Given the description of an element on the screen output the (x, y) to click on. 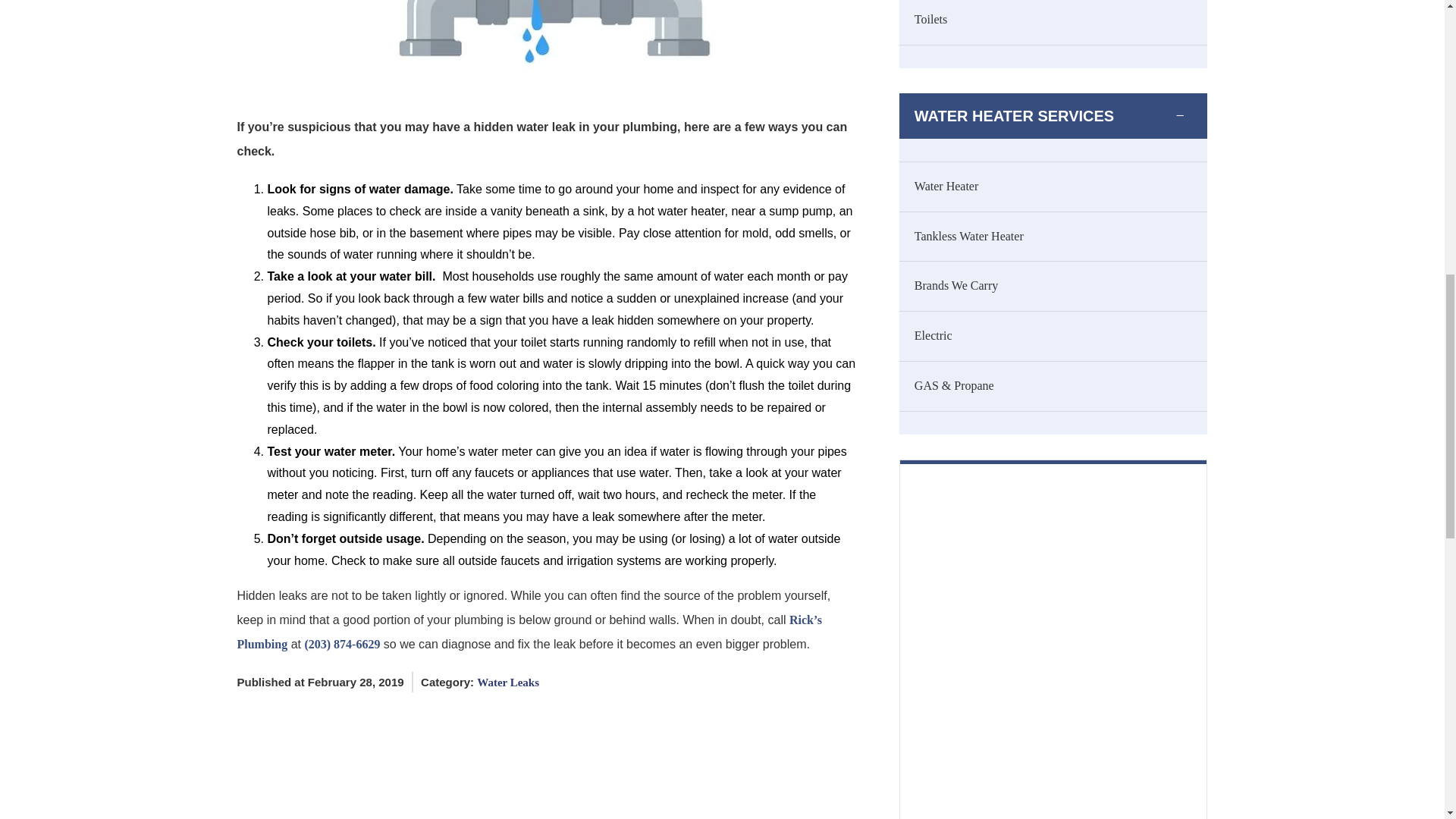
Find Hidden Plumbing Leaks in Your Home (546, 45)
